Given the description of an element on the screen output the (x, y) to click on. 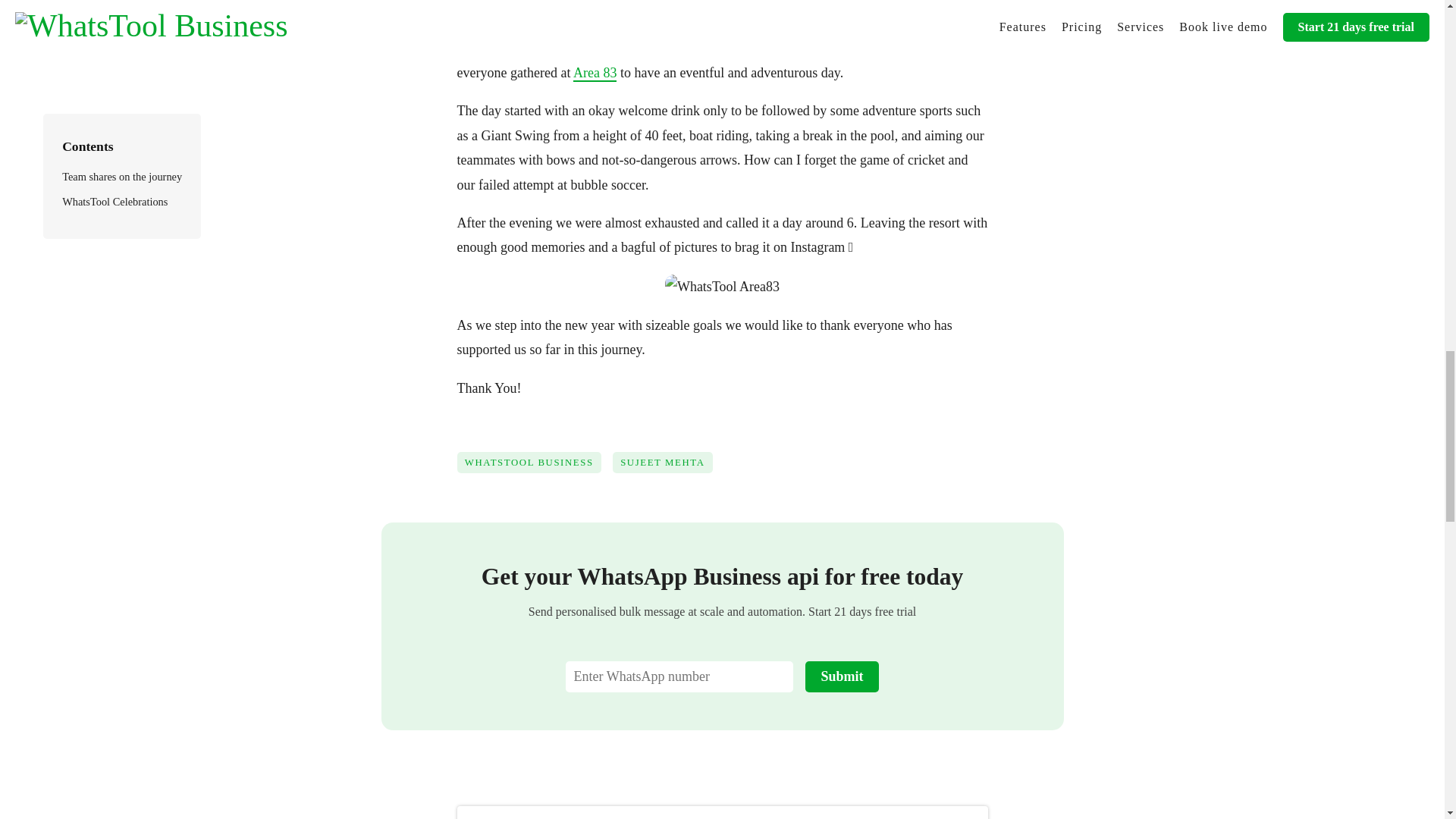
Area 83 (594, 73)
WHATSTOOL BUSINESS (534, 468)
Submit (841, 676)
SUJEET MEHTA (667, 468)
